Given the description of an element on the screen output the (x, y) to click on. 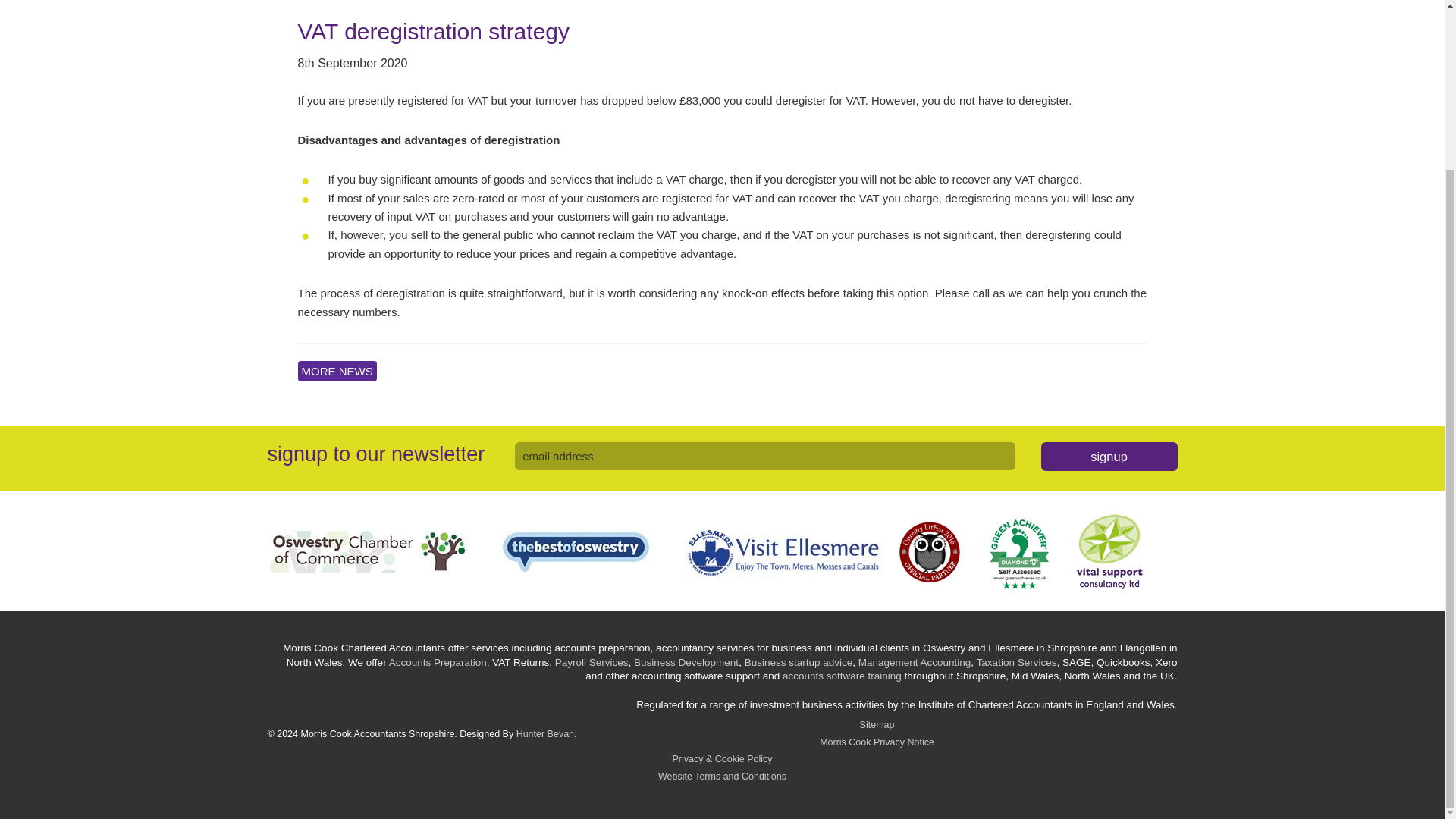
MORE NEWS (336, 371)
signup (1108, 456)
